Given the description of an element on the screen output the (x, y) to click on. 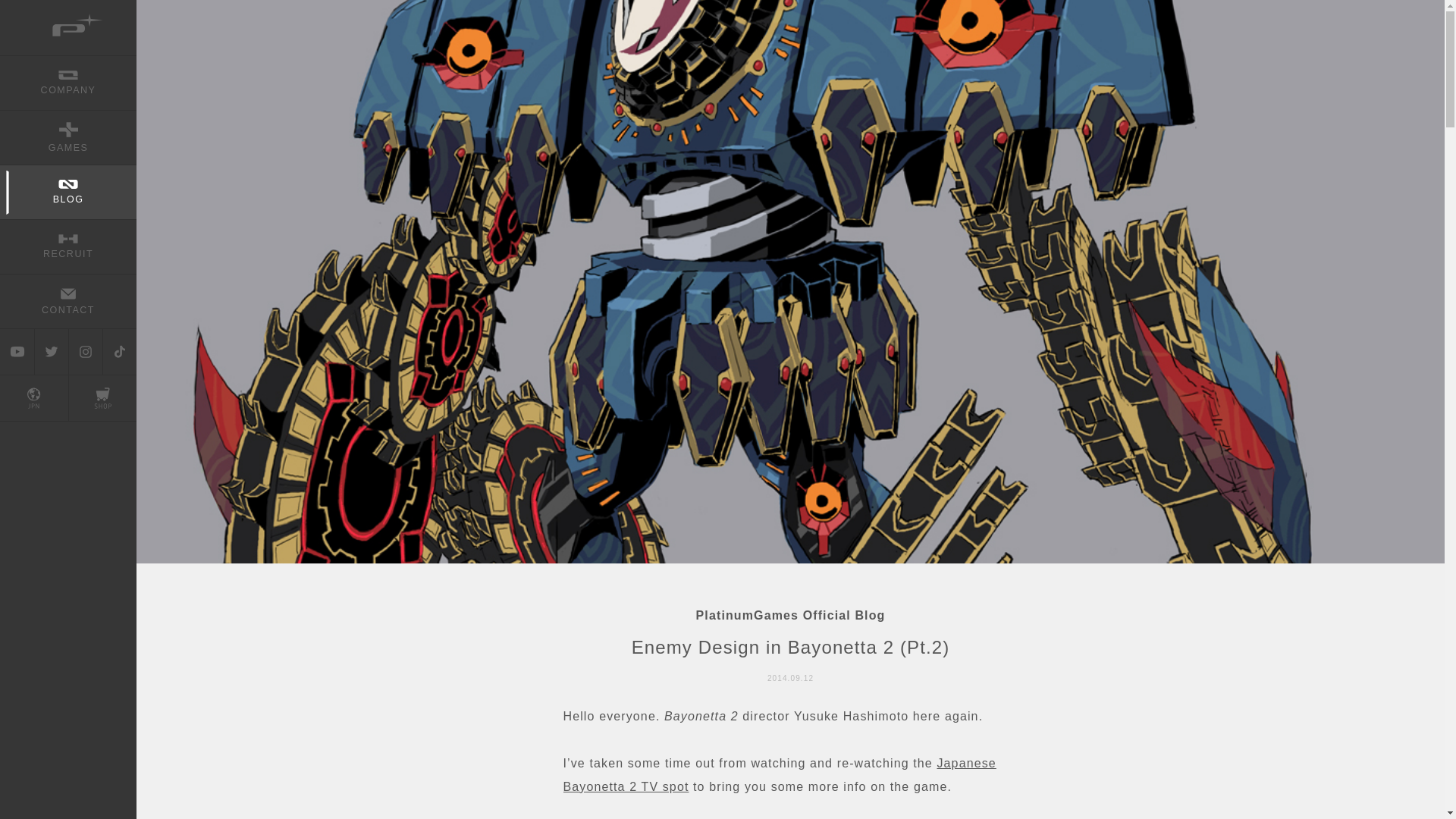
BLOG (68, 191)
CONTACT (68, 300)
Japanese Bayonetta 2 TV spot (778, 774)
RECRUIT (68, 246)
GAMES (68, 136)
COMPANY (68, 82)
